Given the description of an element on the screen output the (x, y) to click on. 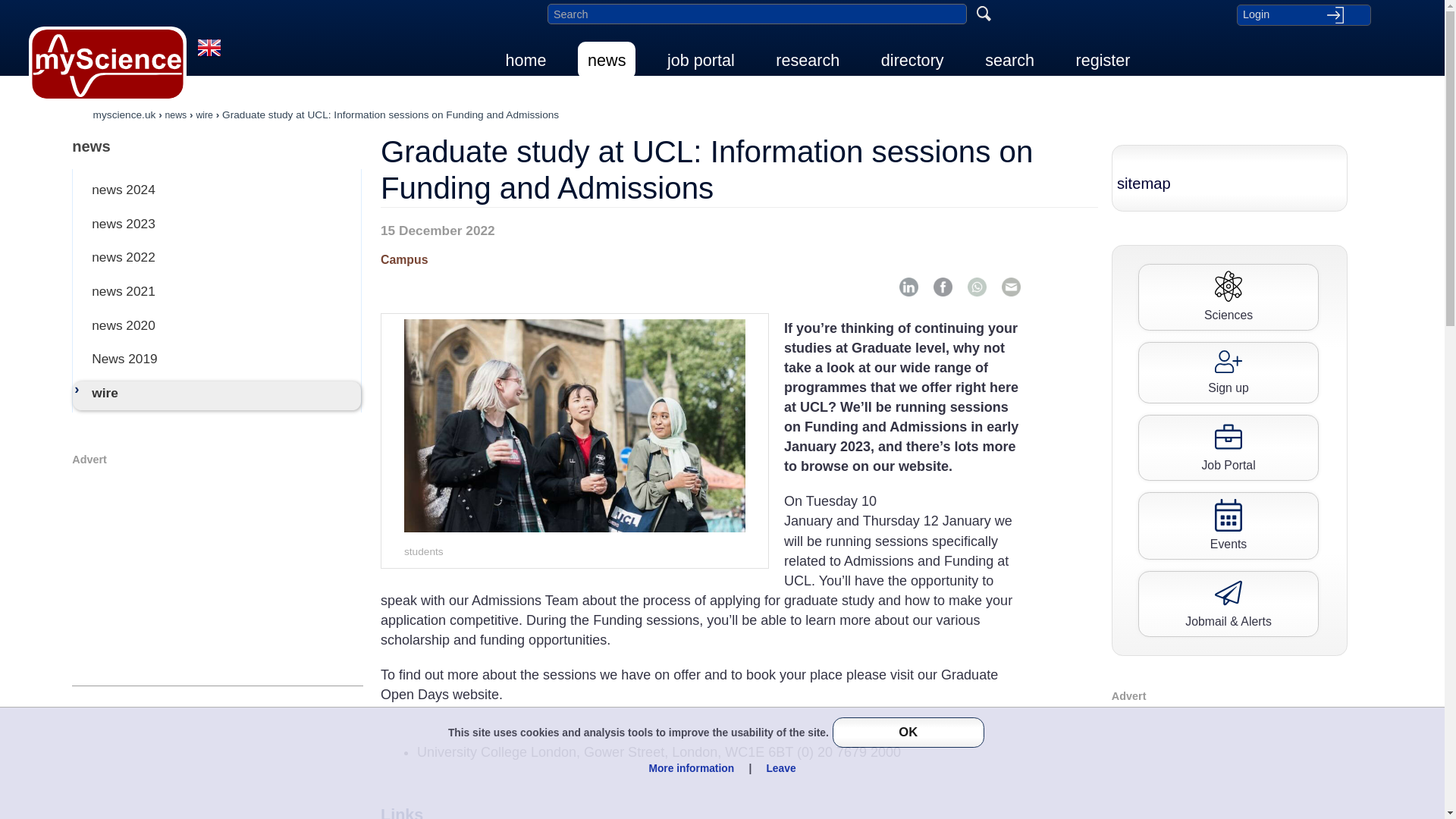
 news  (216, 145)
news (176, 114)
wire (203, 114)
Share on WhatsApp Web (977, 287)
About myscience.uk (208, 57)
research (806, 59)
myScience Home (107, 63)
Advertisement (216, 572)
Login (1303, 14)
Search in myscience.uk (756, 14)
